Given the description of an element on the screen output the (x, y) to click on. 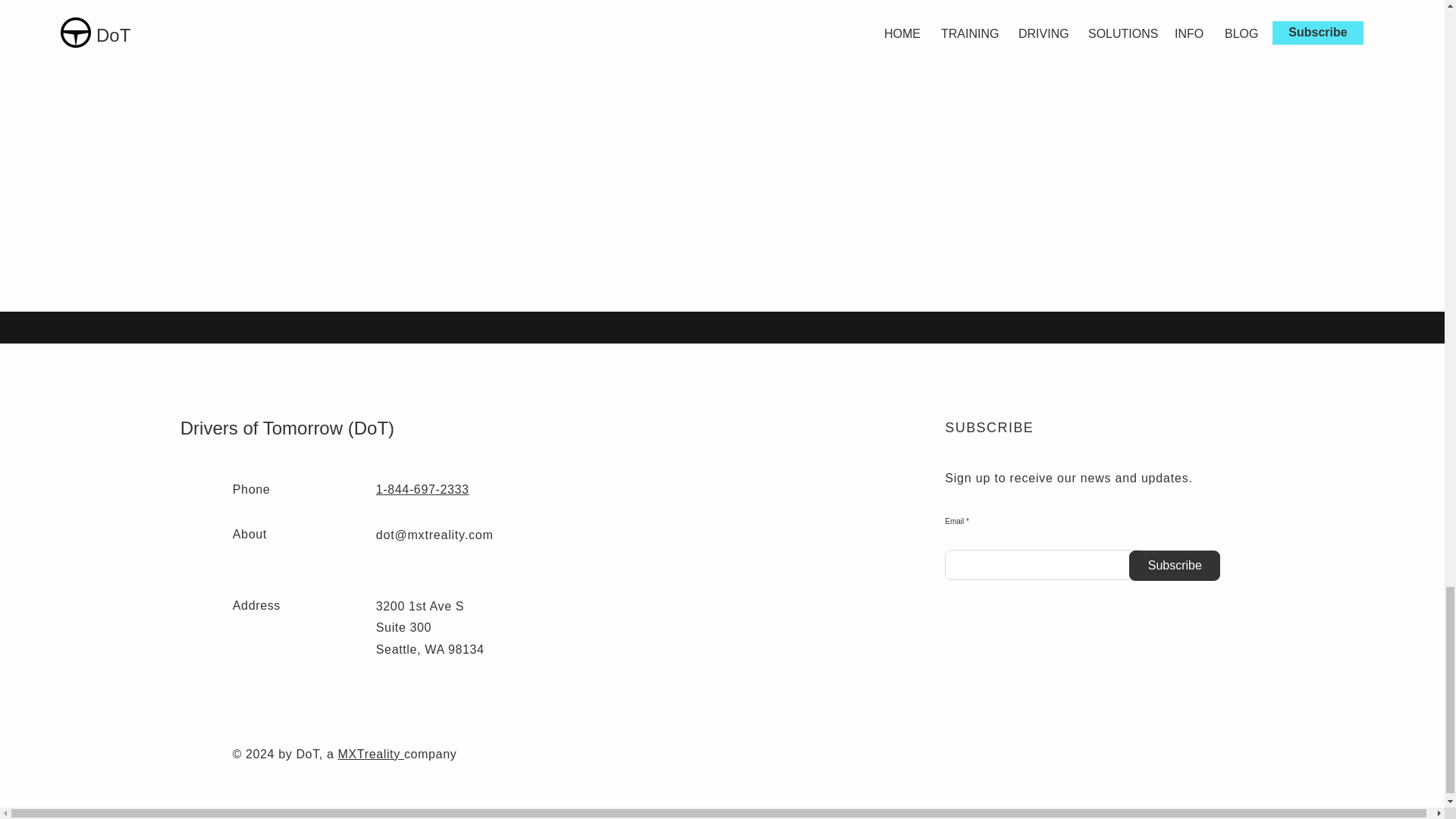
MXTreality (370, 753)
Address (256, 604)
About (249, 533)
Subscribe (1174, 565)
Phone (250, 489)
1-844-697-2333 (421, 489)
